Given the description of an element on the screen output the (x, y) to click on. 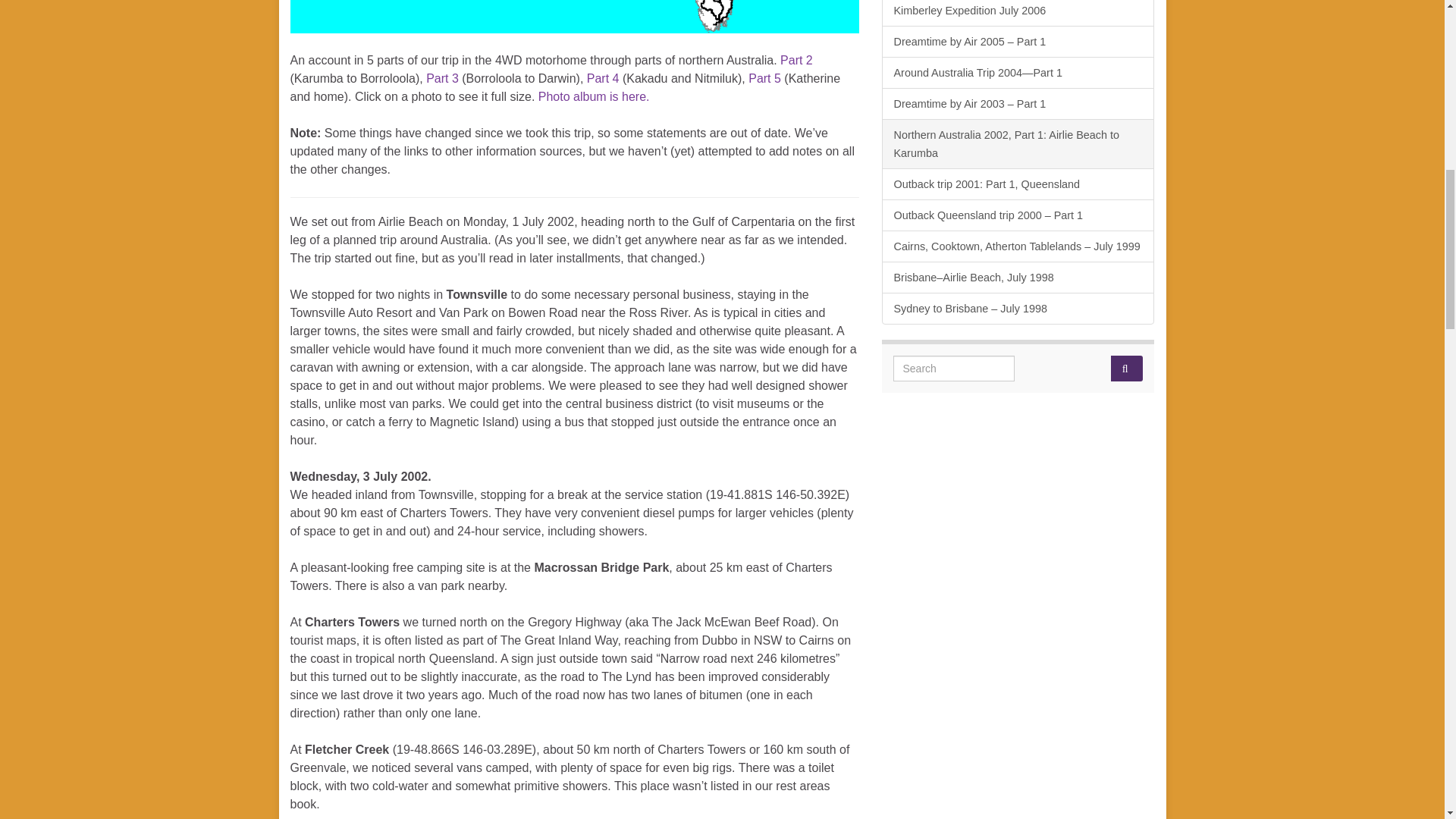
Part 5 (764, 78)
Photo album is here. (593, 96)
Part 3 (442, 78)
Part 4 (603, 78)
Part 2 (796, 60)
